Given the description of an element on the screen output the (x, y) to click on. 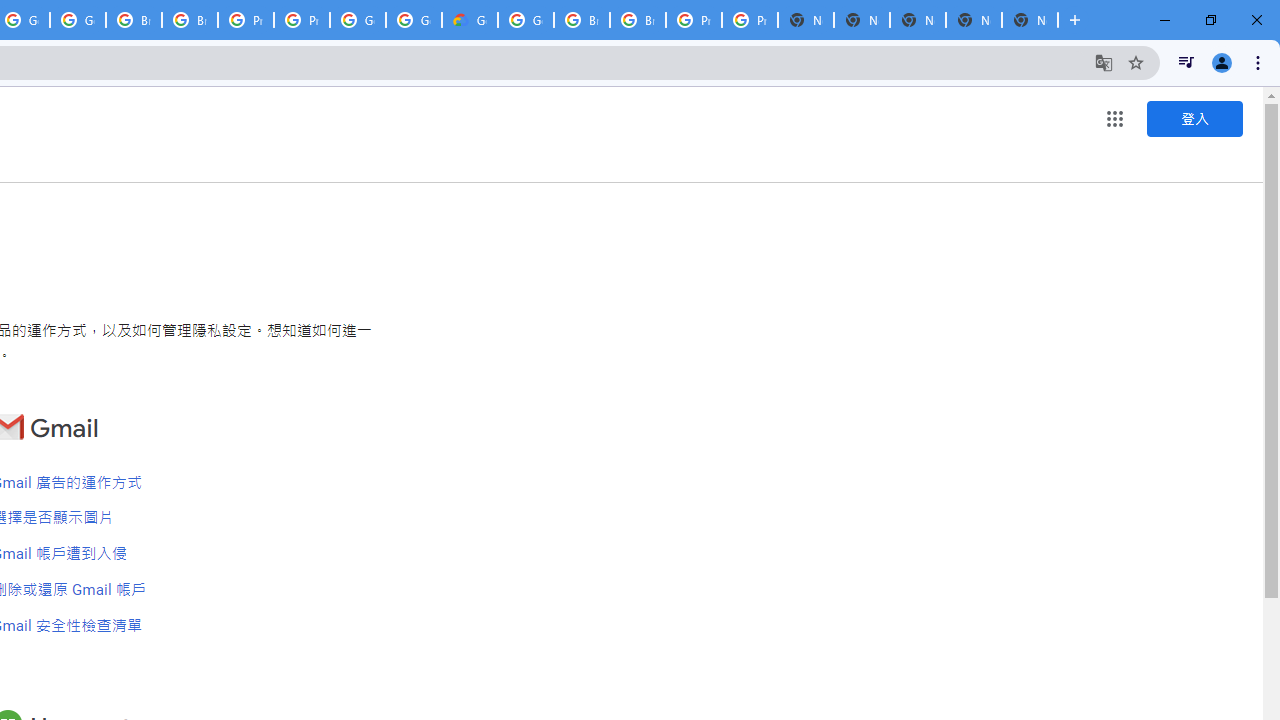
Translate this page (1103, 62)
Browse Chrome as a guest - Computer - Google Chrome Help (582, 20)
Google Cloud Estimate Summary (469, 20)
New Tab (1030, 20)
